Given the description of an element on the screen output the (x, y) to click on. 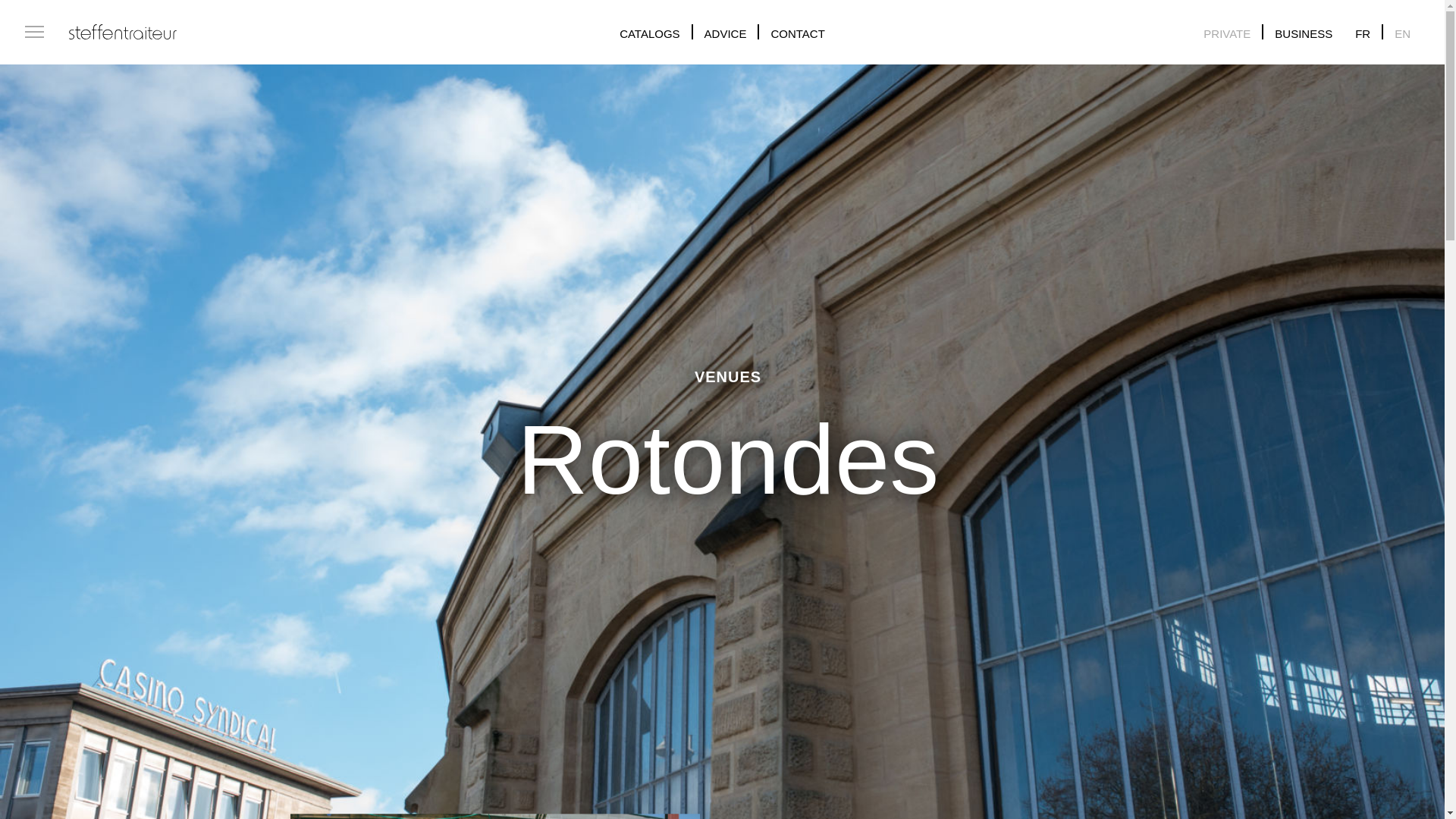
PRIVATE (1227, 33)
FR (1362, 33)
EN (1402, 33)
ADVICE (725, 33)
CATALOGS (649, 33)
VENUES (727, 376)
BUSINESS (1303, 33)
CONTACT (797, 33)
